Given the description of an element on the screen output the (x, y) to click on. 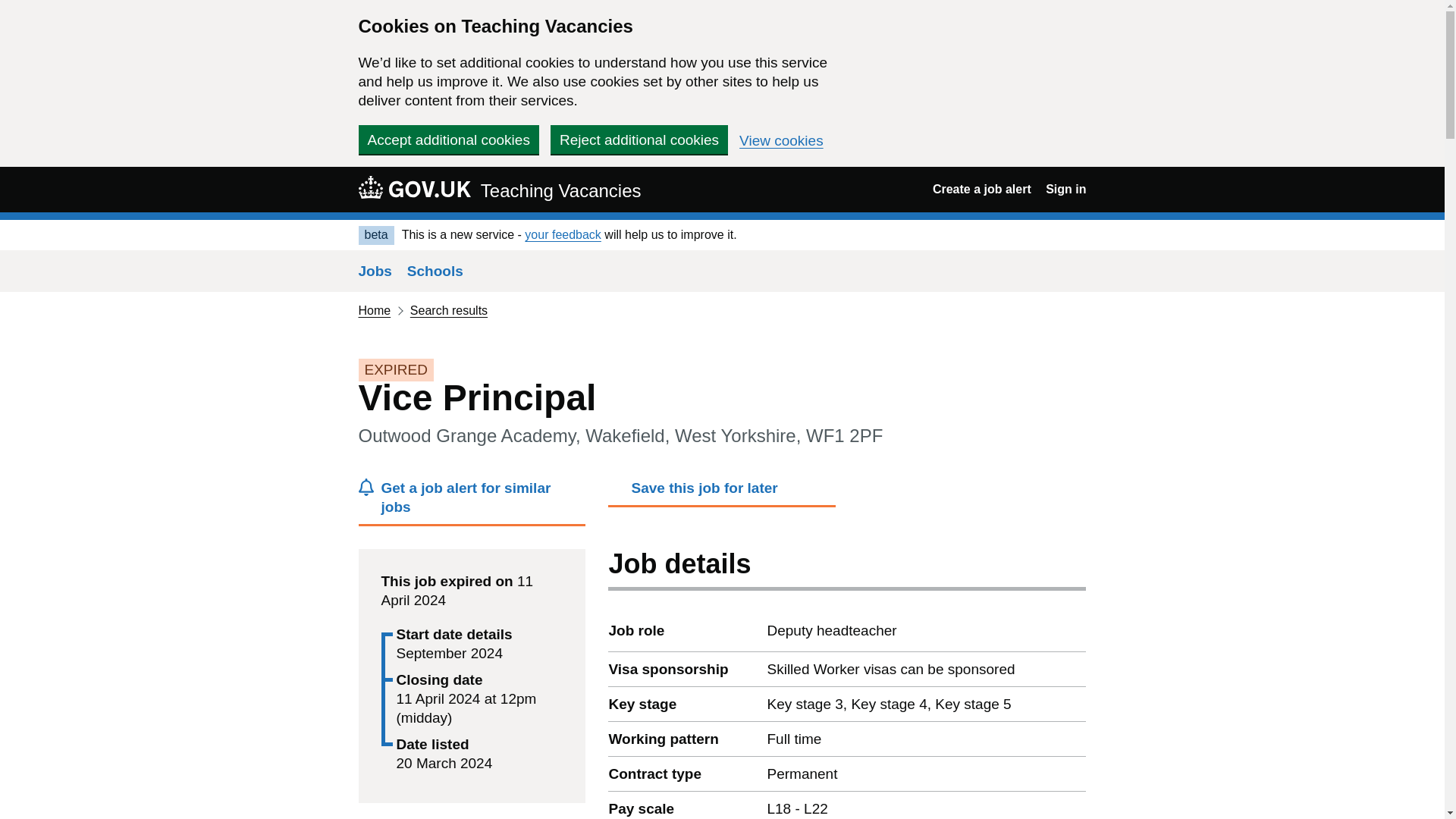
your feedback (562, 234)
Accept additional cookies (448, 139)
Sign in (1065, 188)
Jobs (374, 270)
Search results (448, 309)
Reject additional cookies (639, 139)
Get a job alert for similar jobs (471, 501)
View cookies (781, 140)
Save this job for later (721, 491)
Schools (435, 270)
Create a job alert (981, 188)
GOV.UK (414, 187)
Home (374, 309)
GOV.UK Teaching Vacancies (499, 188)
